Given the description of an element on the screen output the (x, y) to click on. 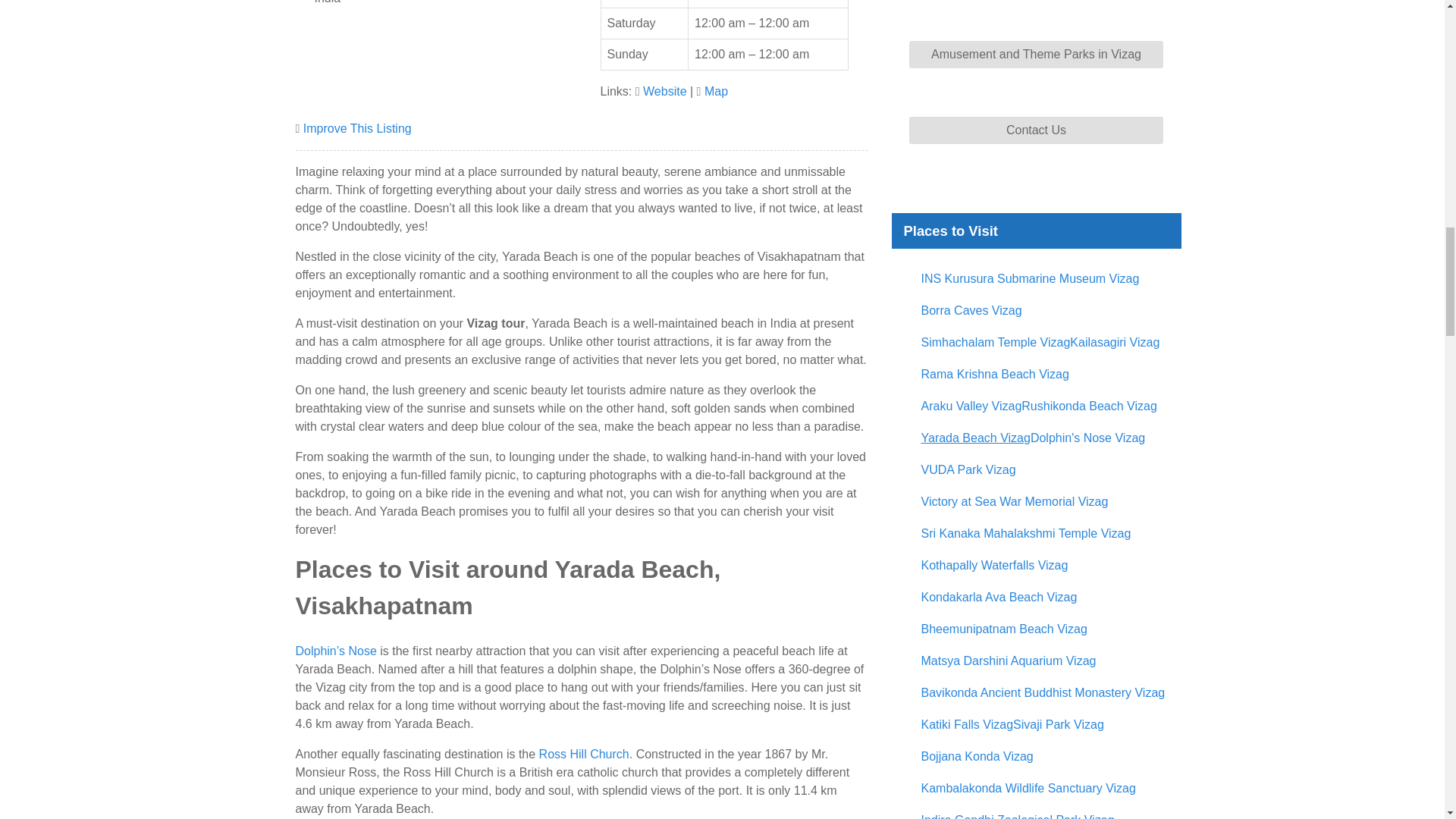
Map (716, 91)
Website (665, 91)
Ross Hill Church (583, 753)
Map for Yarada Beach Vizag  (716, 91)
Yarada Beach Vizag  Website (665, 91)
Improve This Listing (357, 128)
